Given the description of an element on the screen output the (x, y) to click on. 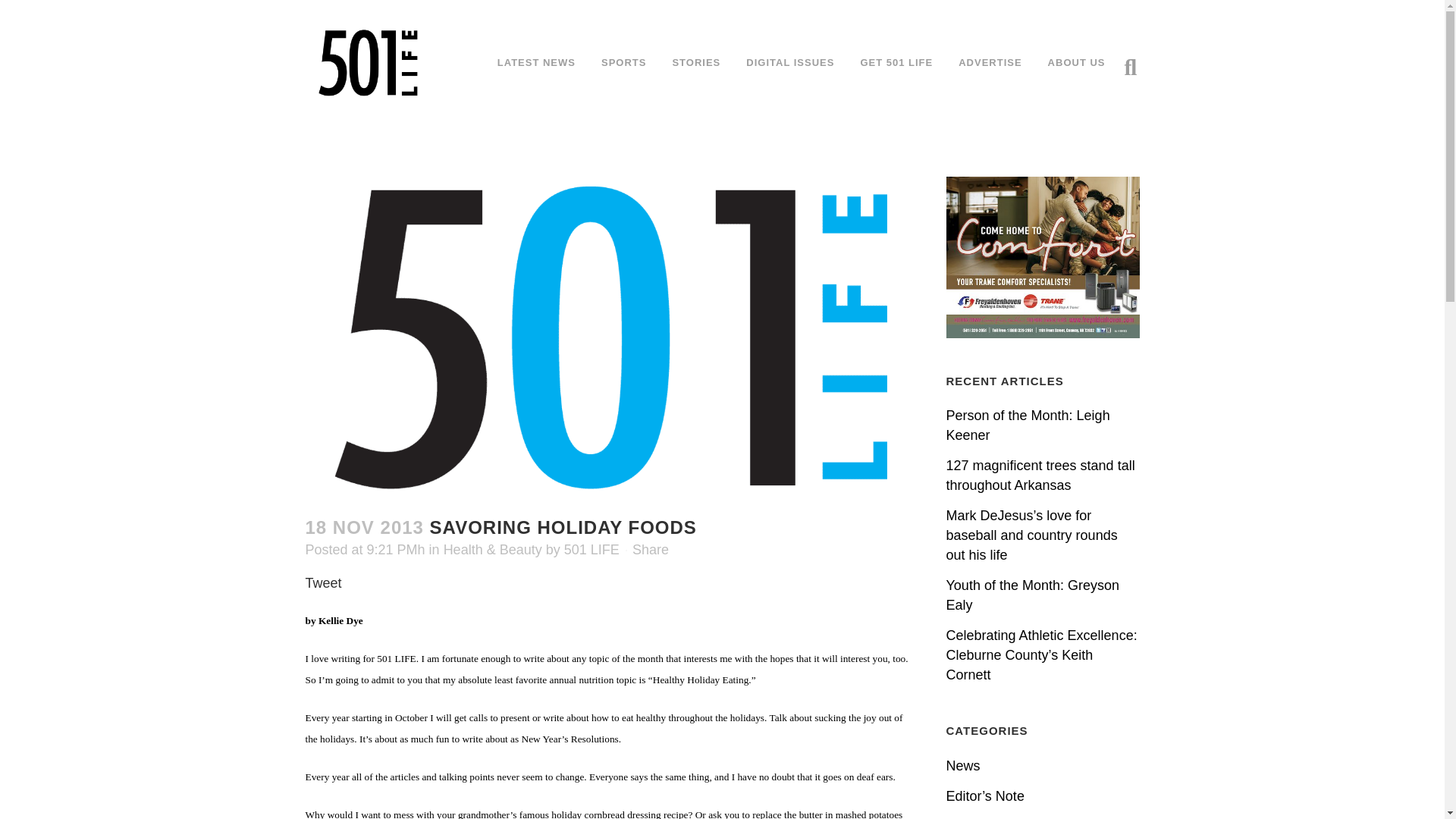
GET 501 LIFE (895, 62)
DIGITAL ISSUES (790, 62)
ADVERTISE (988, 62)
ABOUT US (1076, 62)
STORIES (696, 62)
SPORTS (623, 62)
LATEST NEWS (536, 62)
